Given the description of an element on the screen output the (x, y) to click on. 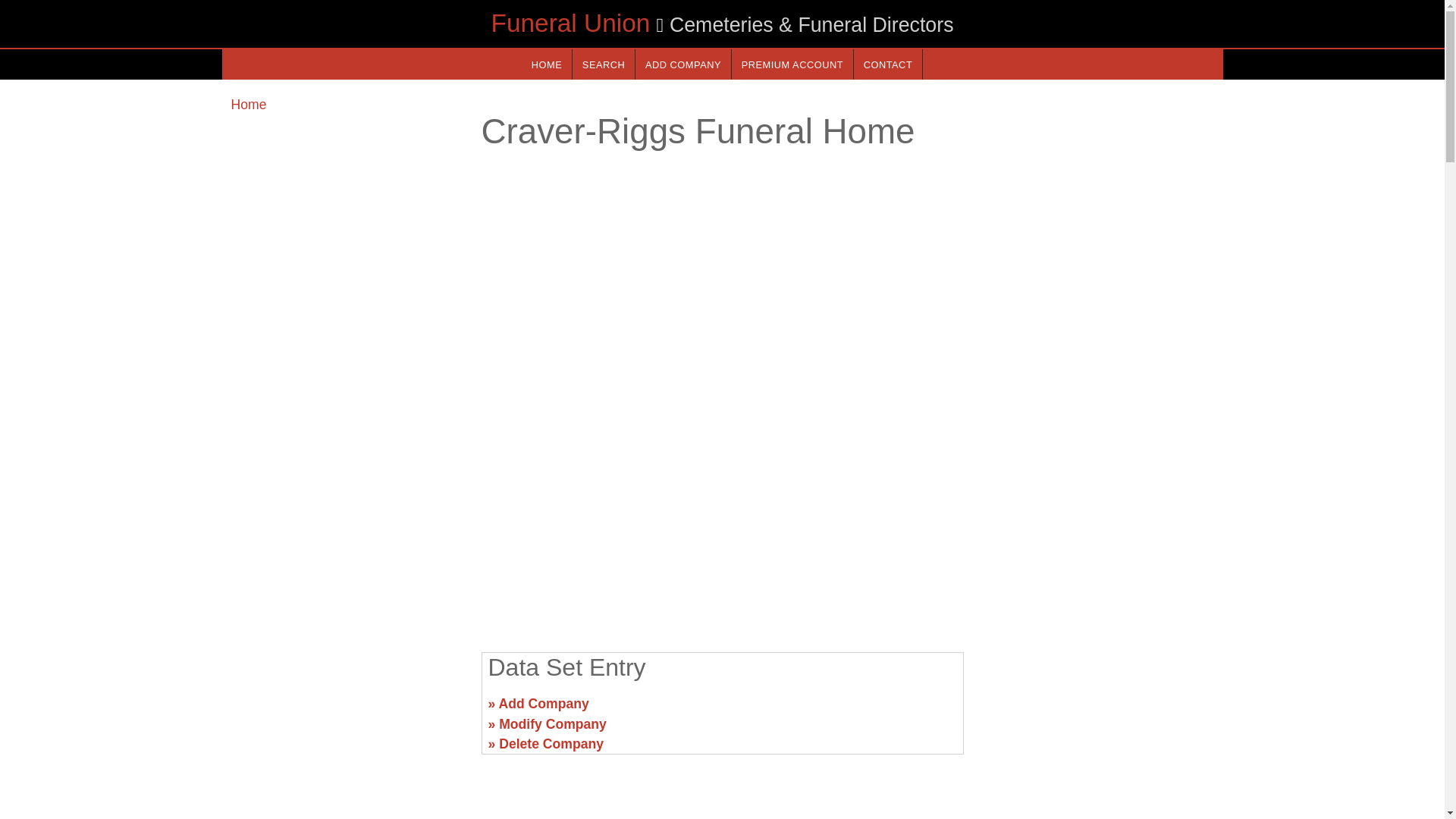
SEARCH (603, 64)
Search in this webseite. (603, 64)
Advertisement (721, 522)
Advertisement (346, 710)
Home (248, 104)
CONTACT (887, 64)
PREMIUM ACCOUNT (792, 64)
Advertisement (1096, 710)
Add a new company (682, 64)
Funeral Union (569, 22)
HOME (546, 64)
Premium account (792, 64)
ADD COMPANY (682, 64)
